Given the description of an element on the screen output the (x, y) to click on. 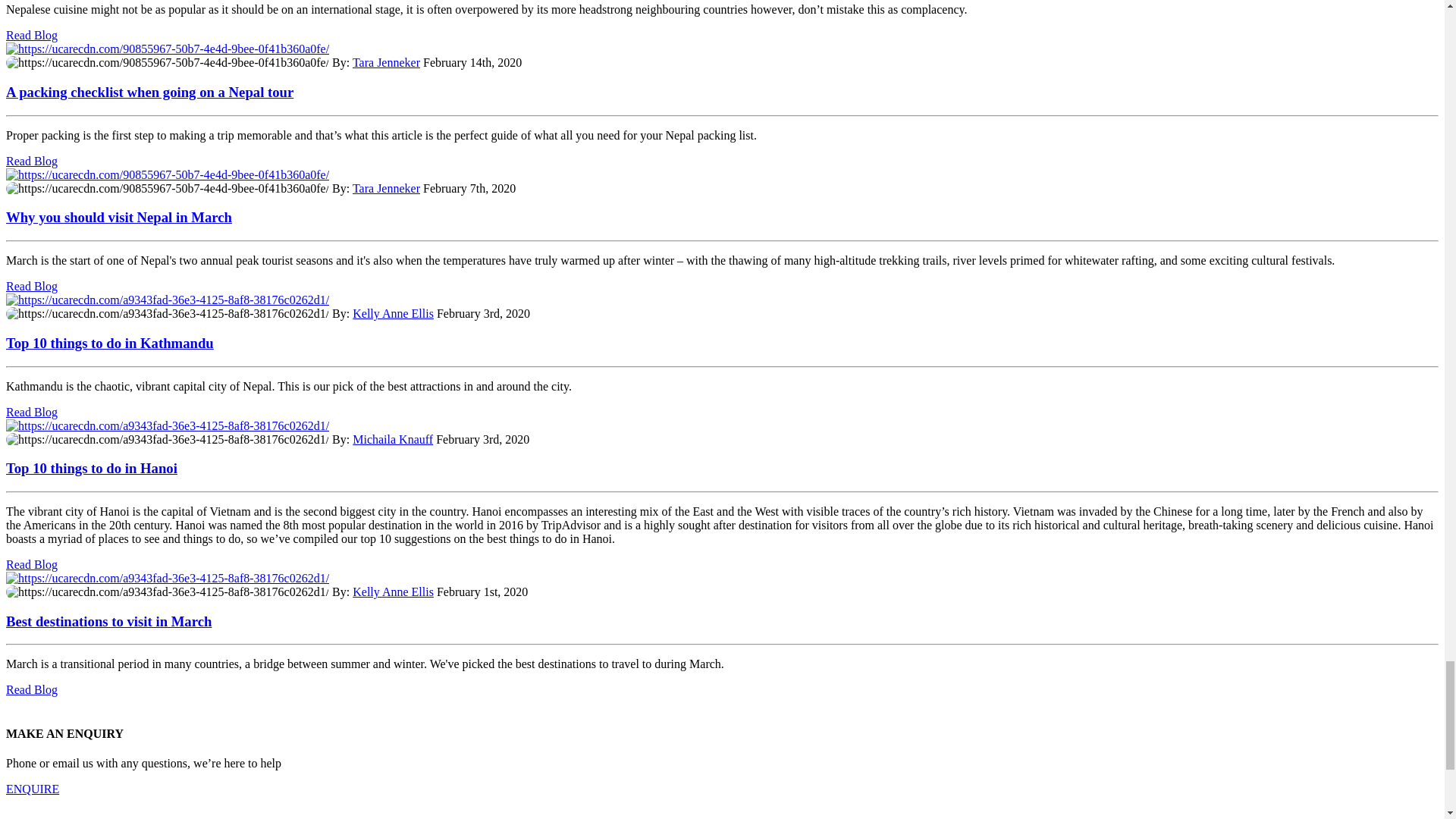
Read Blog (31, 34)
Read Blog (31, 689)
Read Blog (31, 411)
Read Blog (31, 286)
Make an enquiry (32, 788)
Read Blog (31, 563)
Read Blog (31, 160)
